Given the description of an element on the screen output the (x, y) to click on. 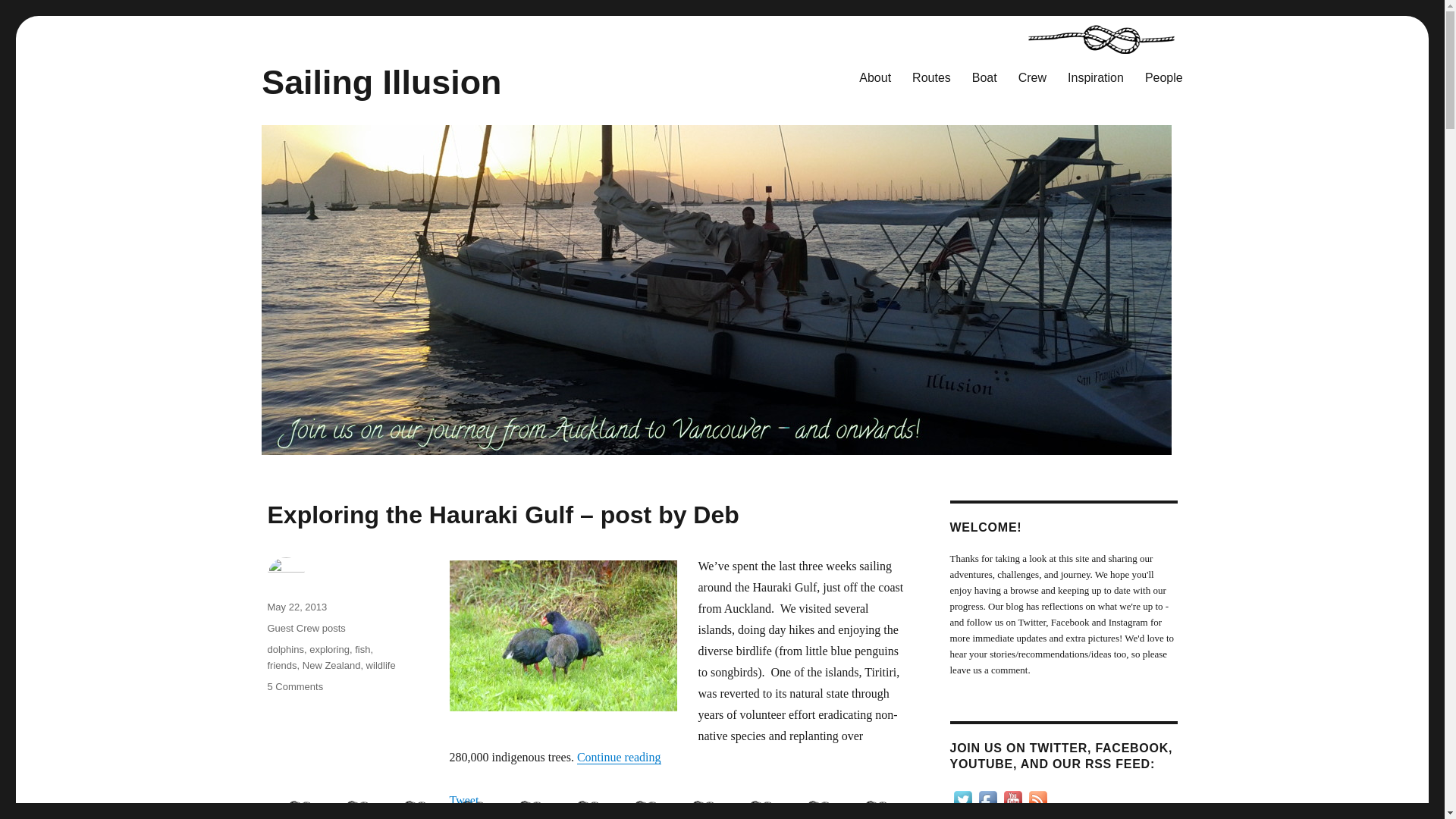
May 22, 2013 (296, 606)
friends (281, 665)
Visit Us On Twitter (961, 798)
Guest Crew posts (305, 627)
Crew (1032, 77)
exploring (328, 649)
Inspiration (1095, 77)
Sailing Illusion (381, 81)
dolphins (284, 649)
People (1163, 77)
wildlife (381, 665)
Visit Us On Facebook (987, 798)
Visit Us On Youtube (1011, 798)
New Zealand (331, 665)
Routes (930, 77)
